Given the description of an element on the screen output the (x, y) to click on. 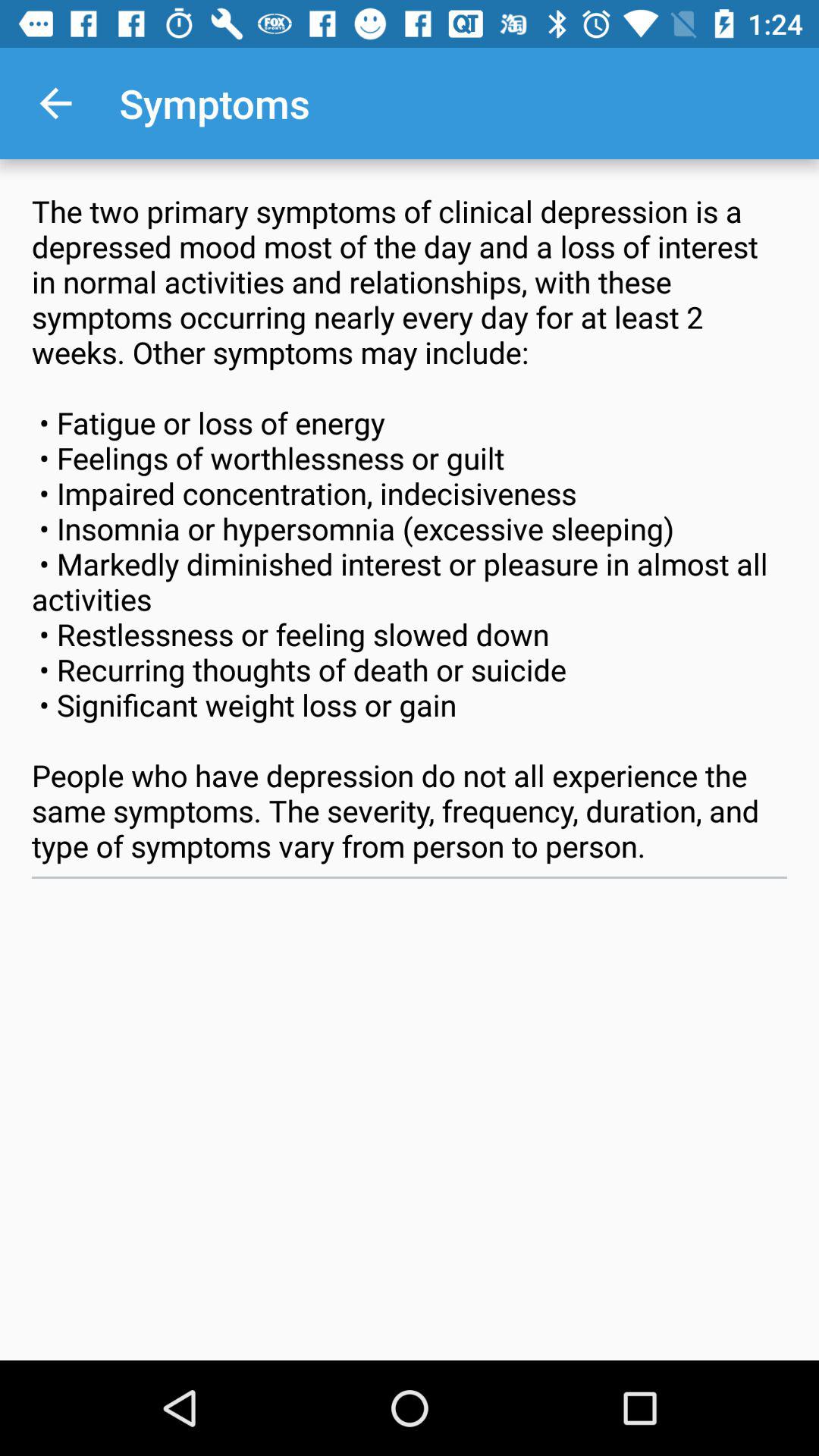
choose the app to the left of symptoms app (55, 103)
